Given the description of an element on the screen output the (x, y) to click on. 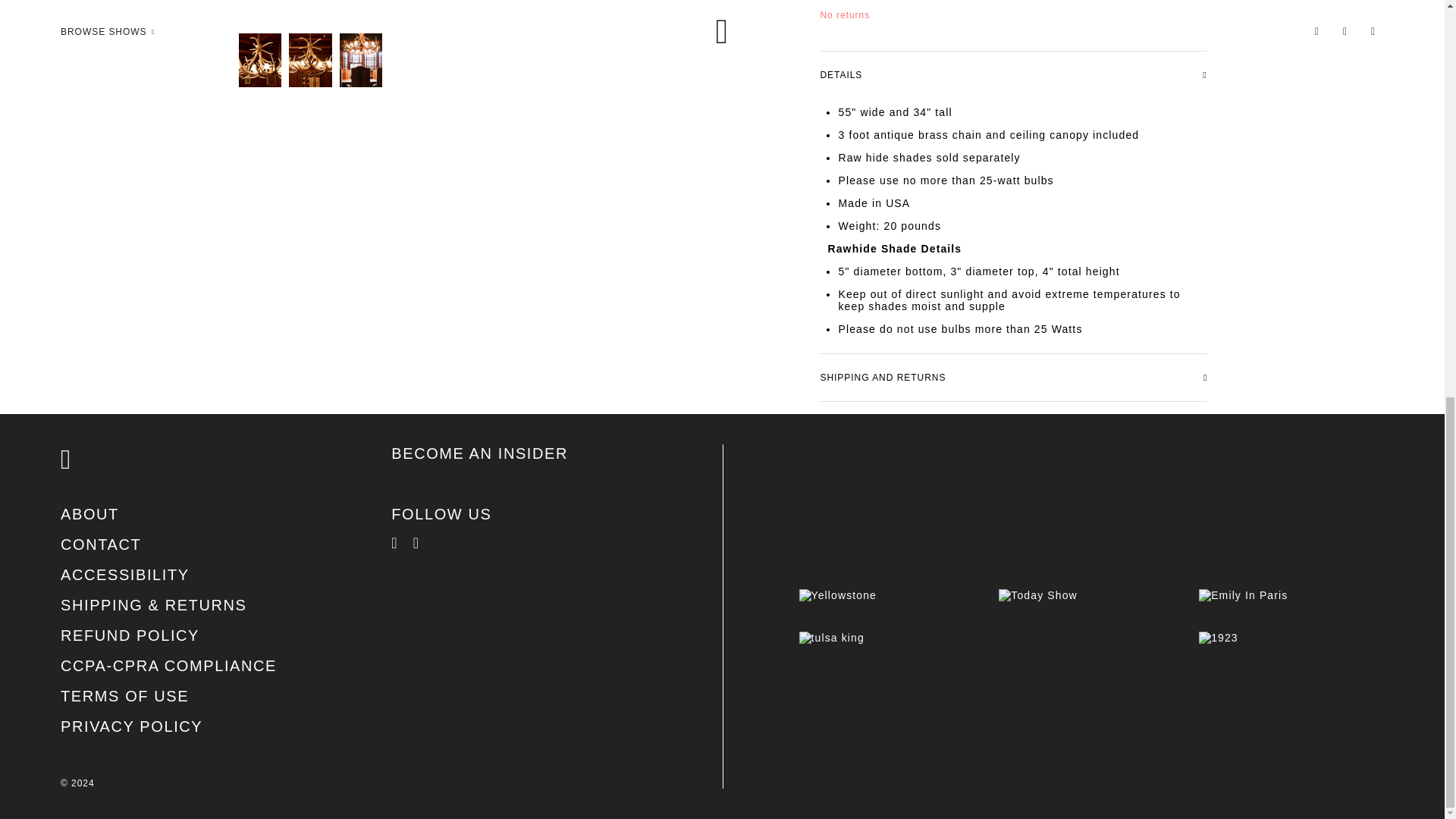
Shop The Scenes on Instagram (423, 542)
Shop The Scenes on Twitter (448, 542)
Shop The Scenes on Facebook (401, 542)
